Given the description of an element on the screen output the (x, y) to click on. 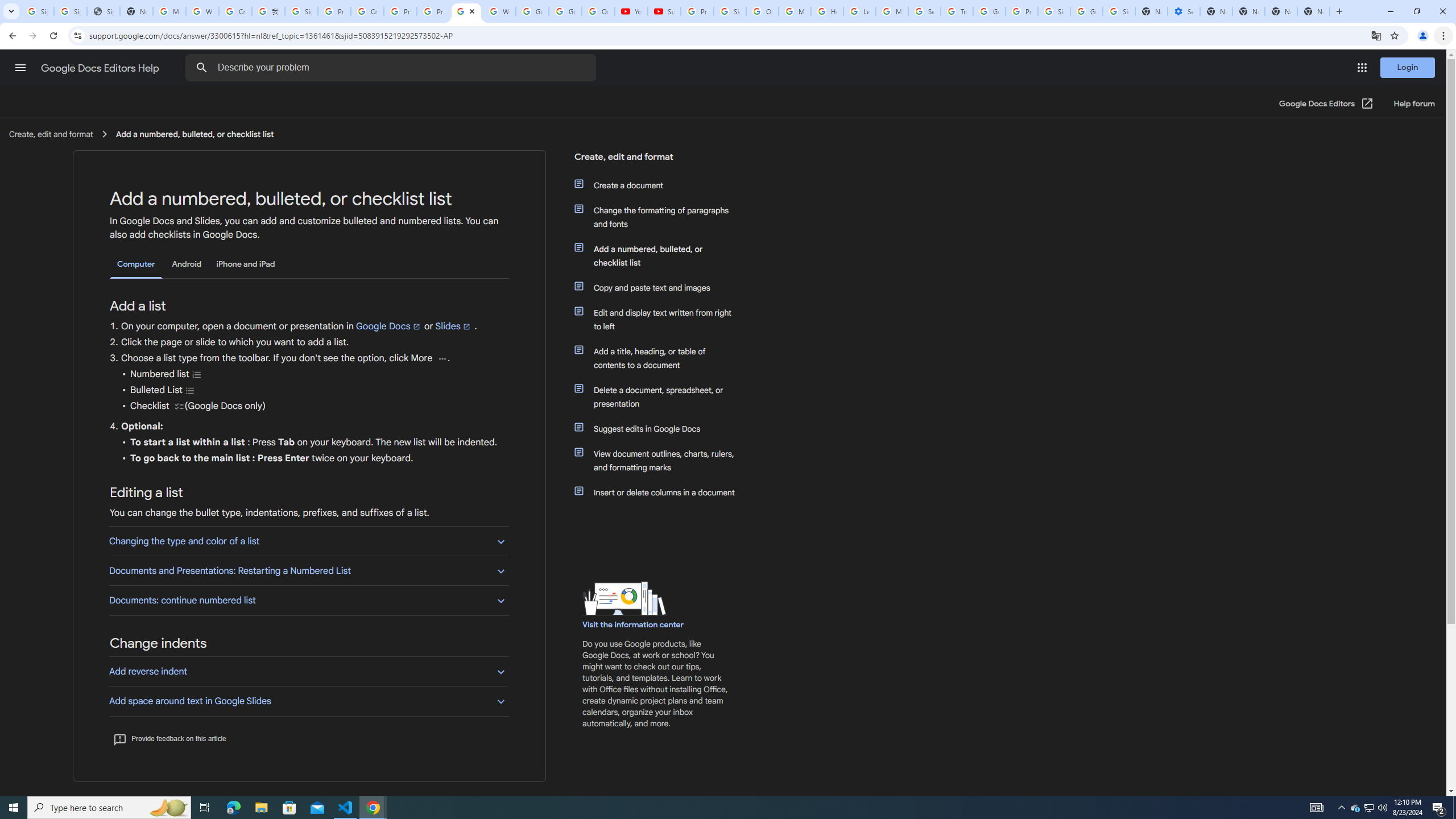
Bulleted List (189, 389)
Copy and paste text and images (661, 287)
Insert or delete columns in a document (661, 492)
Google Docs (388, 326)
Computer (136, 264)
Google Account (564, 11)
Sign in - Google Accounts (1053, 11)
Google Ads - Sign in (989, 11)
Create your Google Account (235, 11)
